Given the description of an element on the screen output the (x, y) to click on. 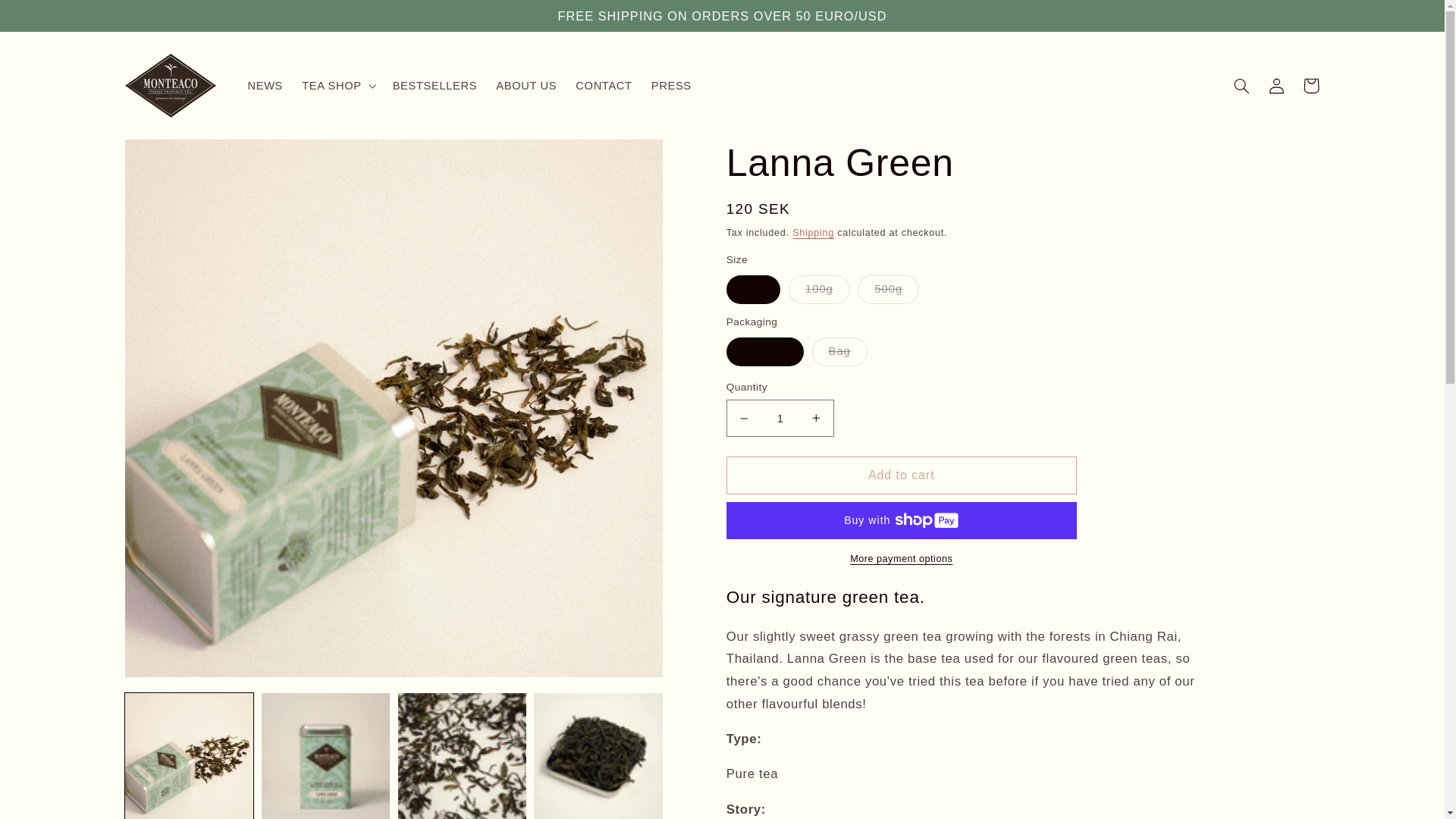
BESTSELLERS (434, 85)
NEWS (265, 85)
Log in (1276, 85)
CONTACT (604, 85)
ABOUT US (526, 85)
PRESS (671, 85)
